Given the description of an element on the screen output the (x, y) to click on. 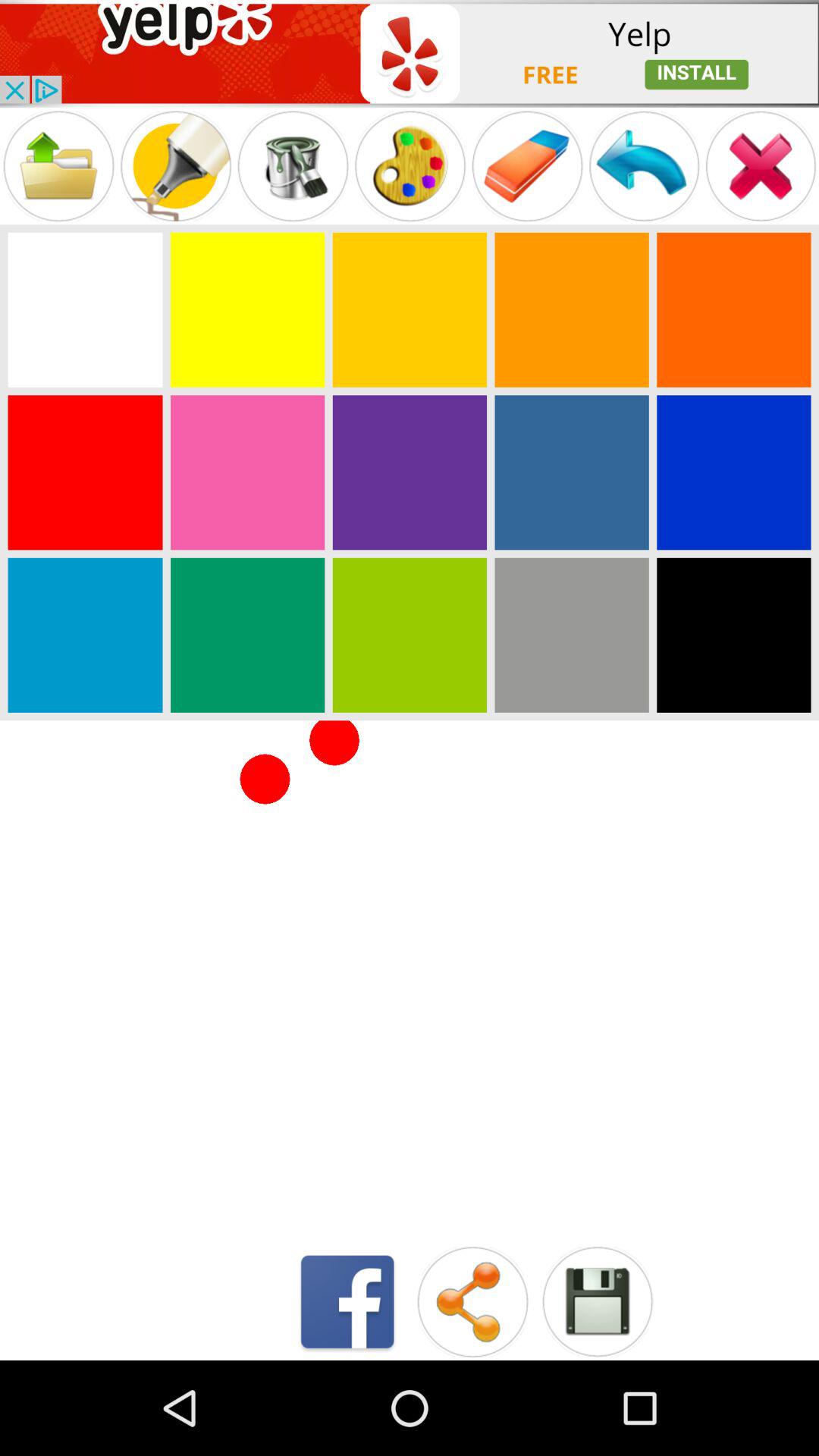
select pen tool (292, 165)
